Given the description of an element on the screen output the (x, y) to click on. 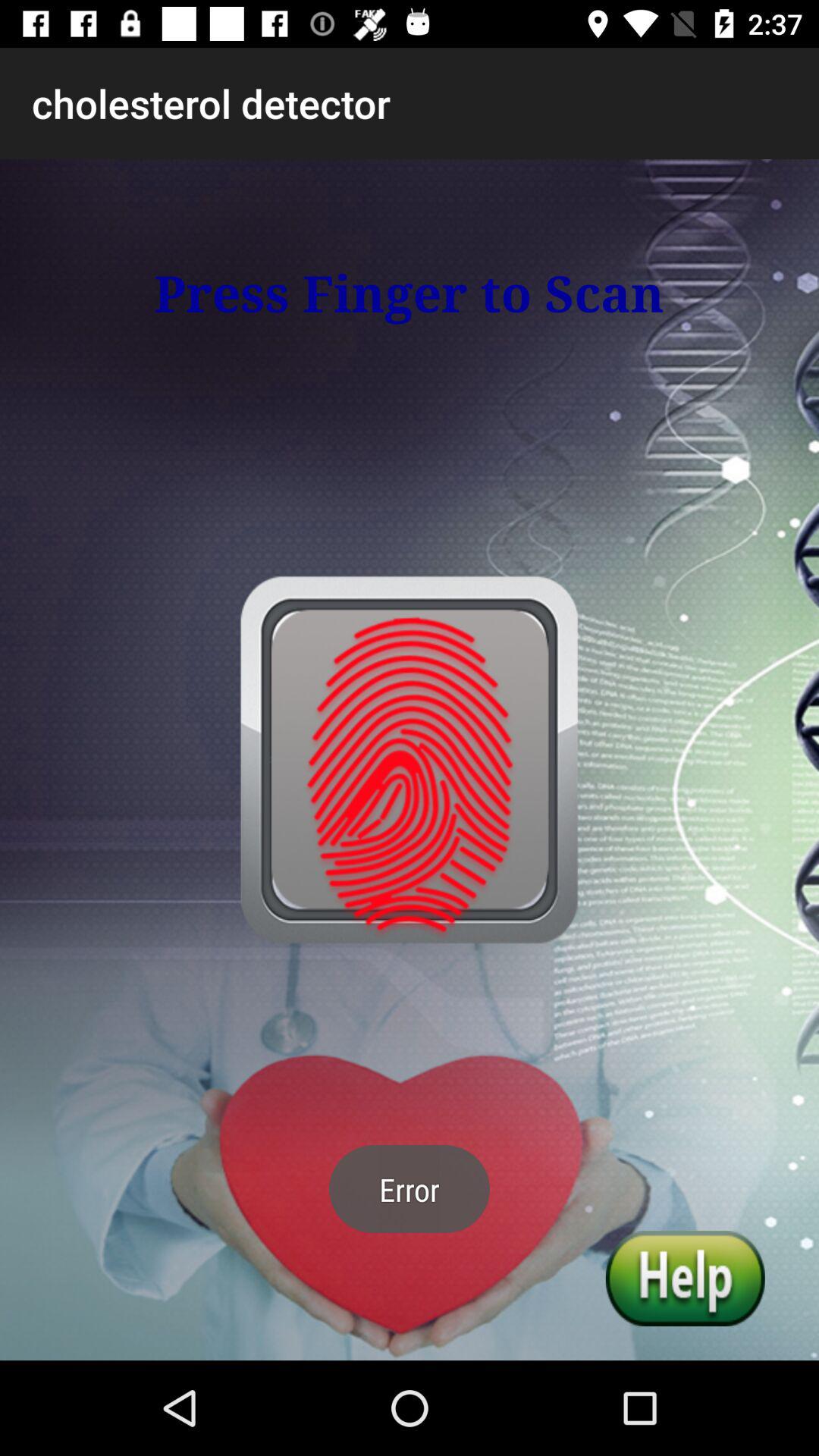
open help button (684, 1278)
